Given the description of an element on the screen output the (x, y) to click on. 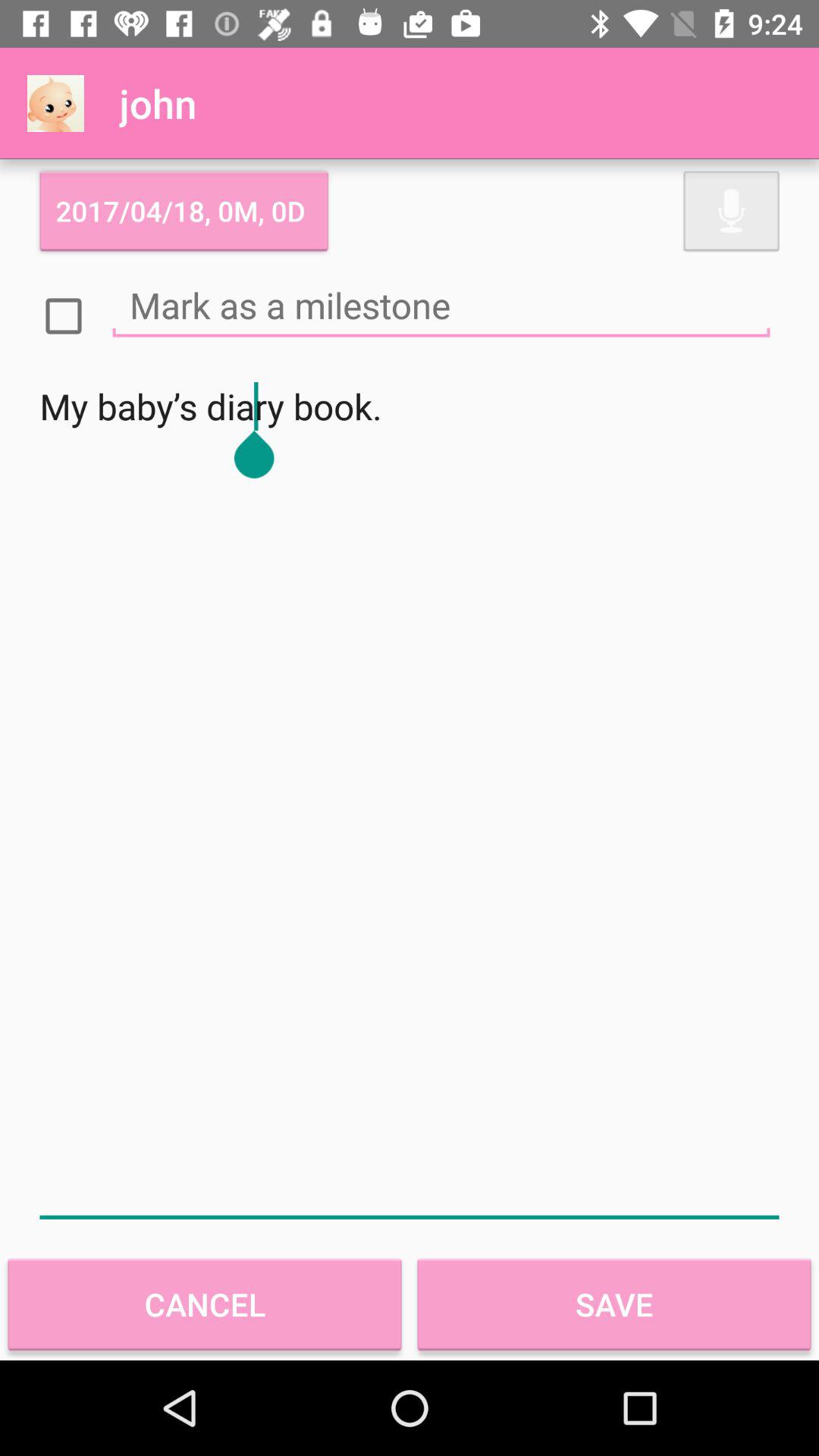
launch the save at the bottom right corner (614, 1304)
